Given the description of an element on the screen output the (x, y) to click on. 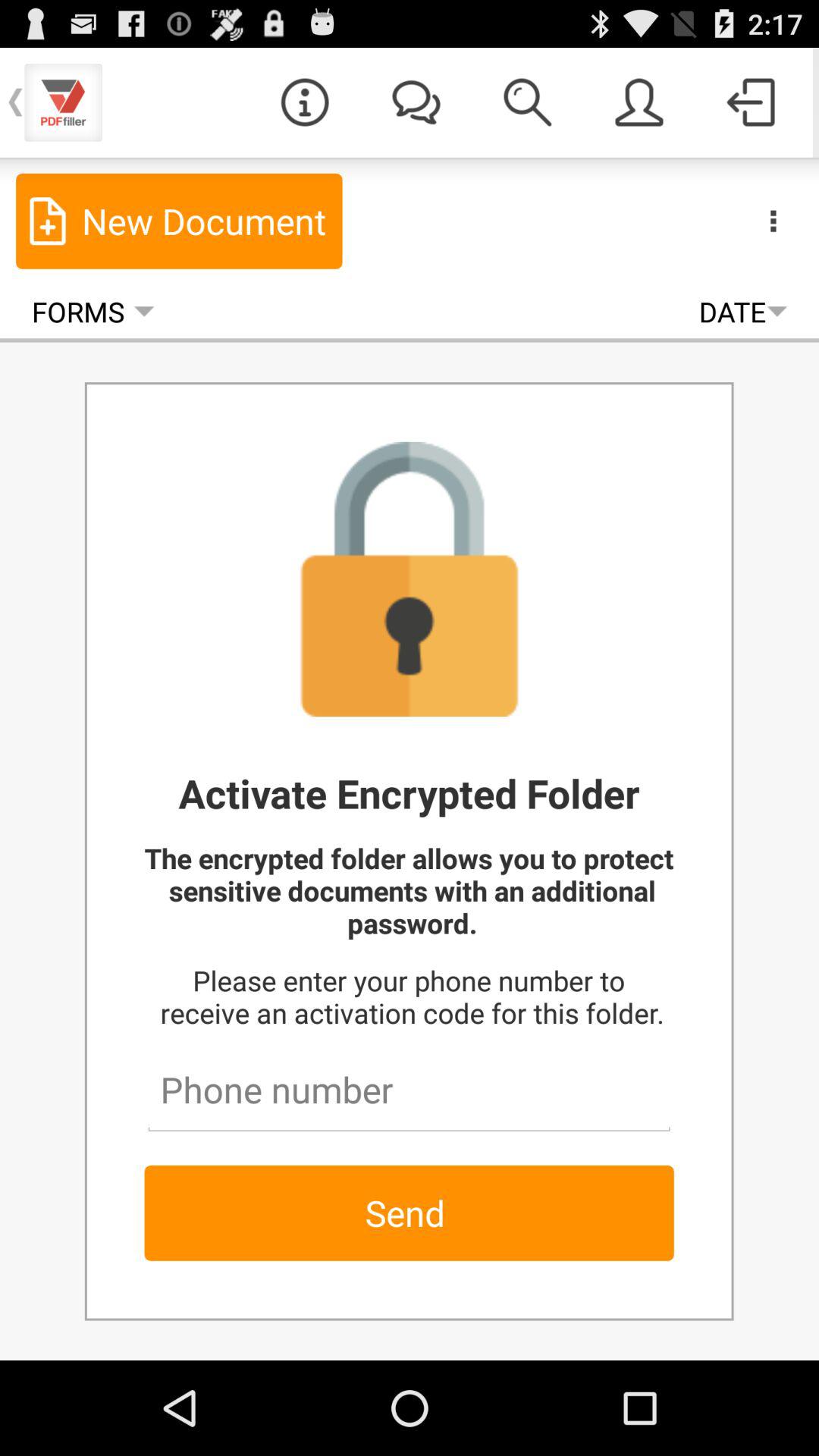
choose icon to the right of new document item (773, 220)
